Given the description of an element on the screen output the (x, y) to click on. 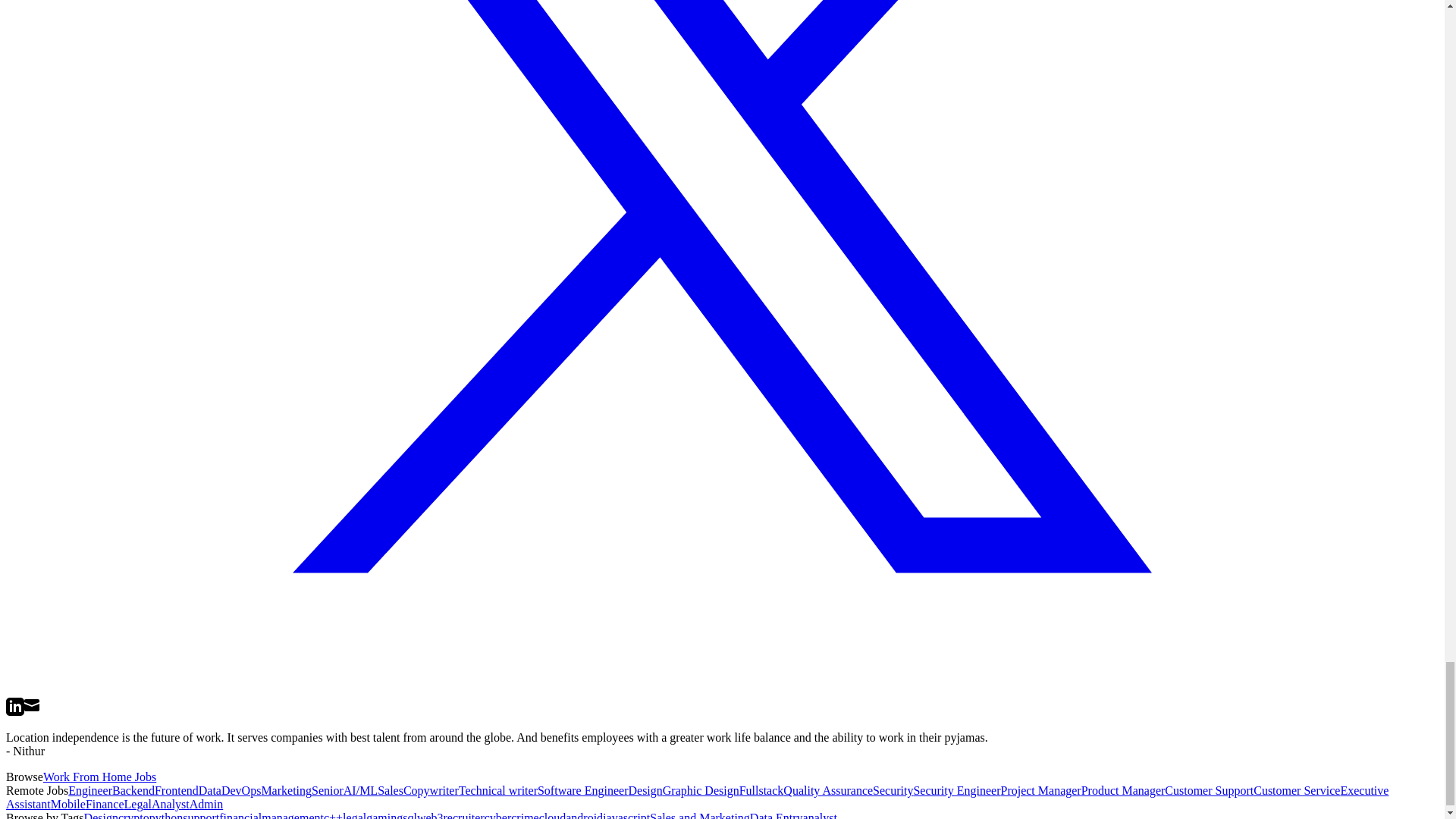
Real Work From Anywhere contact email (33, 706)
